Given the description of an element on the screen output the (x, y) to click on. 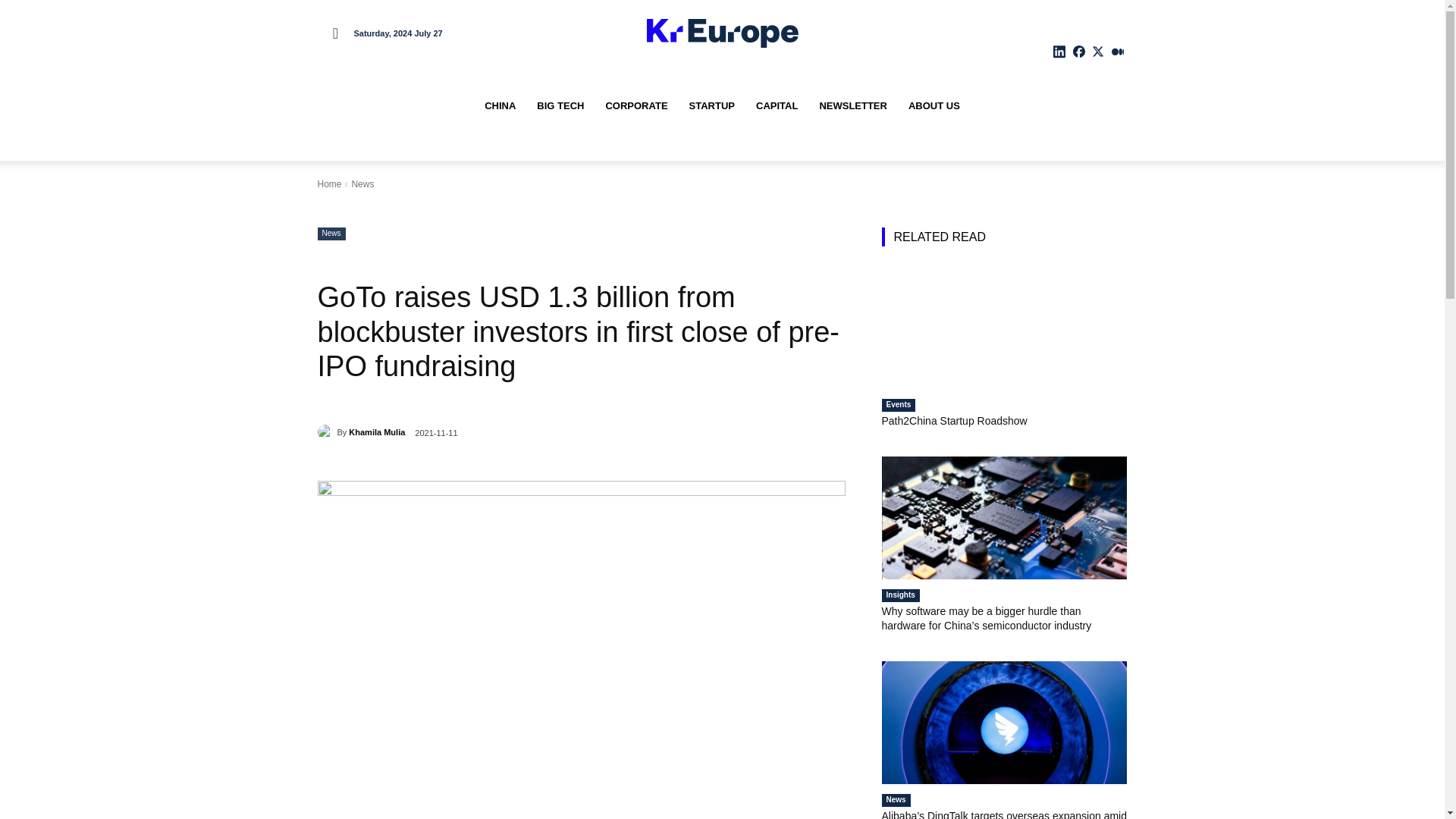
Home (328, 184)
Khamila Mulia (326, 432)
CHINA (499, 105)
News (331, 233)
News (362, 184)
STARTUP (711, 105)
CORPORATE (636, 105)
BIG TECH (559, 105)
Khamila Mulia (376, 431)
View all posts in News (362, 184)
ABOUT US (934, 105)
NEWSLETTER (853, 105)
CAPITAL (776, 105)
